Given the description of an element on the screen output the (x, y) to click on. 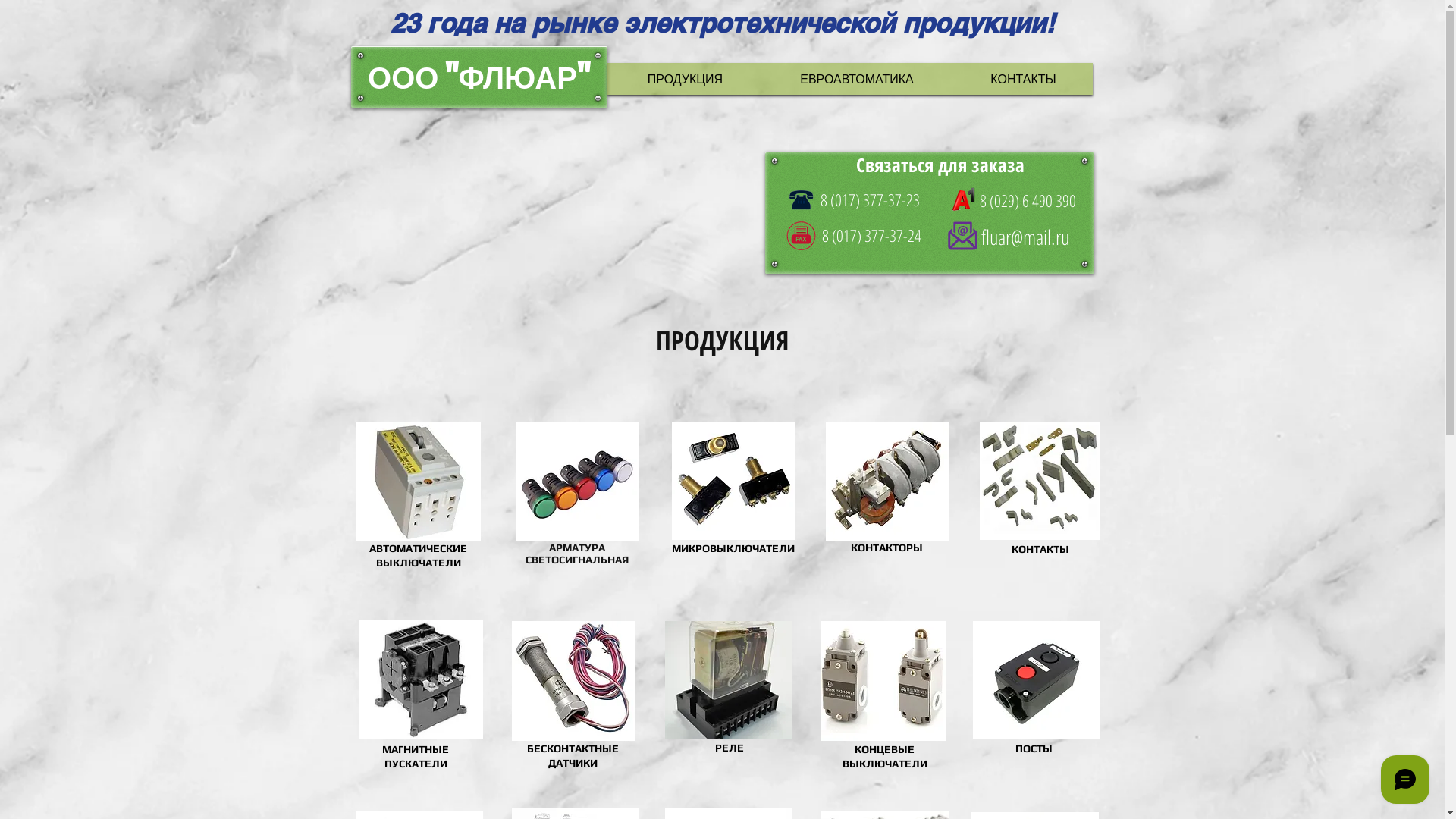
fluar@mail.ru Element type: text (1025, 235)
Embedded Content Element type: hover (535, 178)
